Given the description of an element on the screen output the (x, y) to click on. 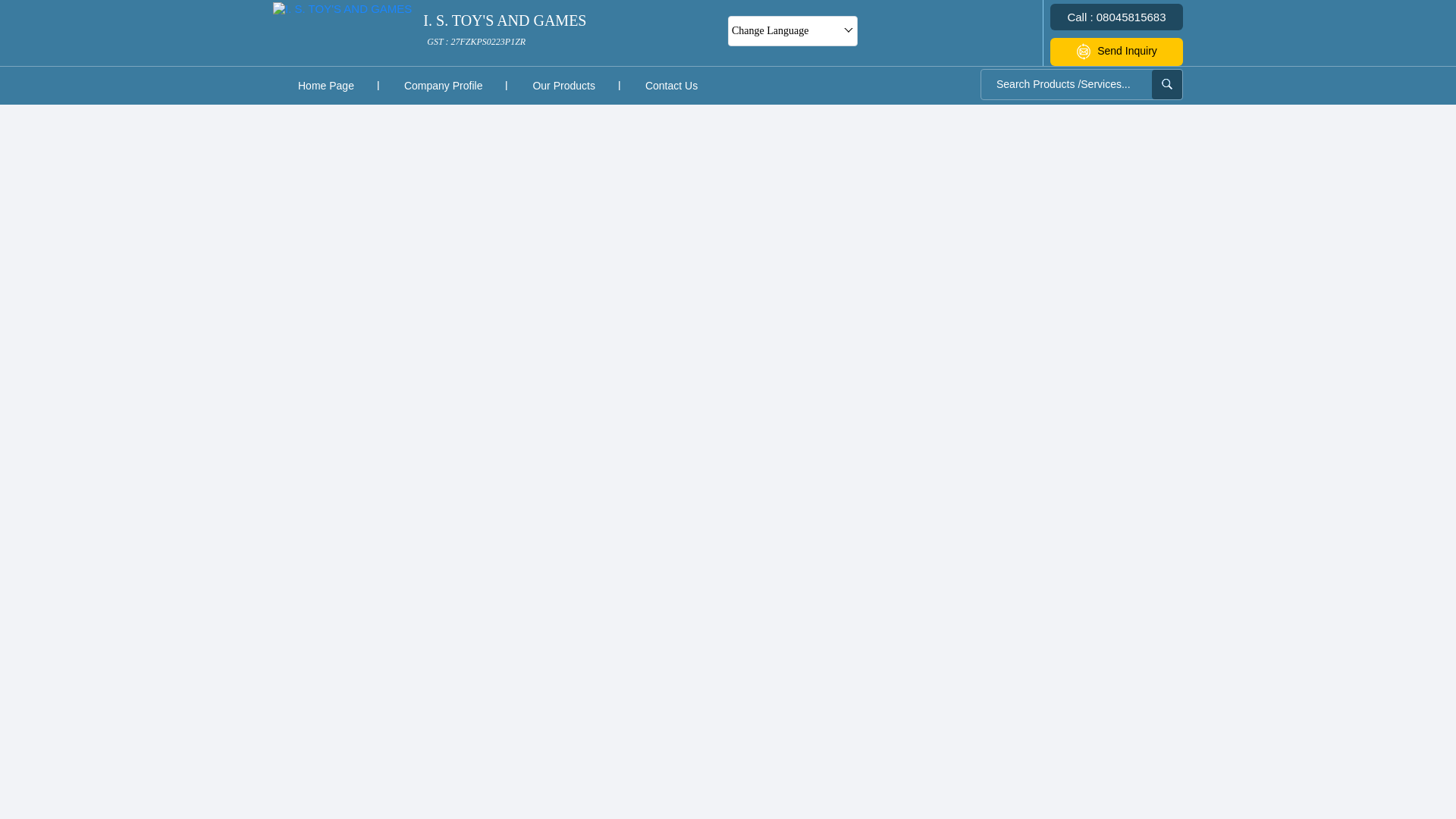
submit (1166, 84)
Our Products (563, 85)
Contact Us (671, 85)
Home Page (325, 85)
Company Profile (443, 85)
Send Inquiry (504, 29)
